Given the description of an element on the screen output the (x, y) to click on. 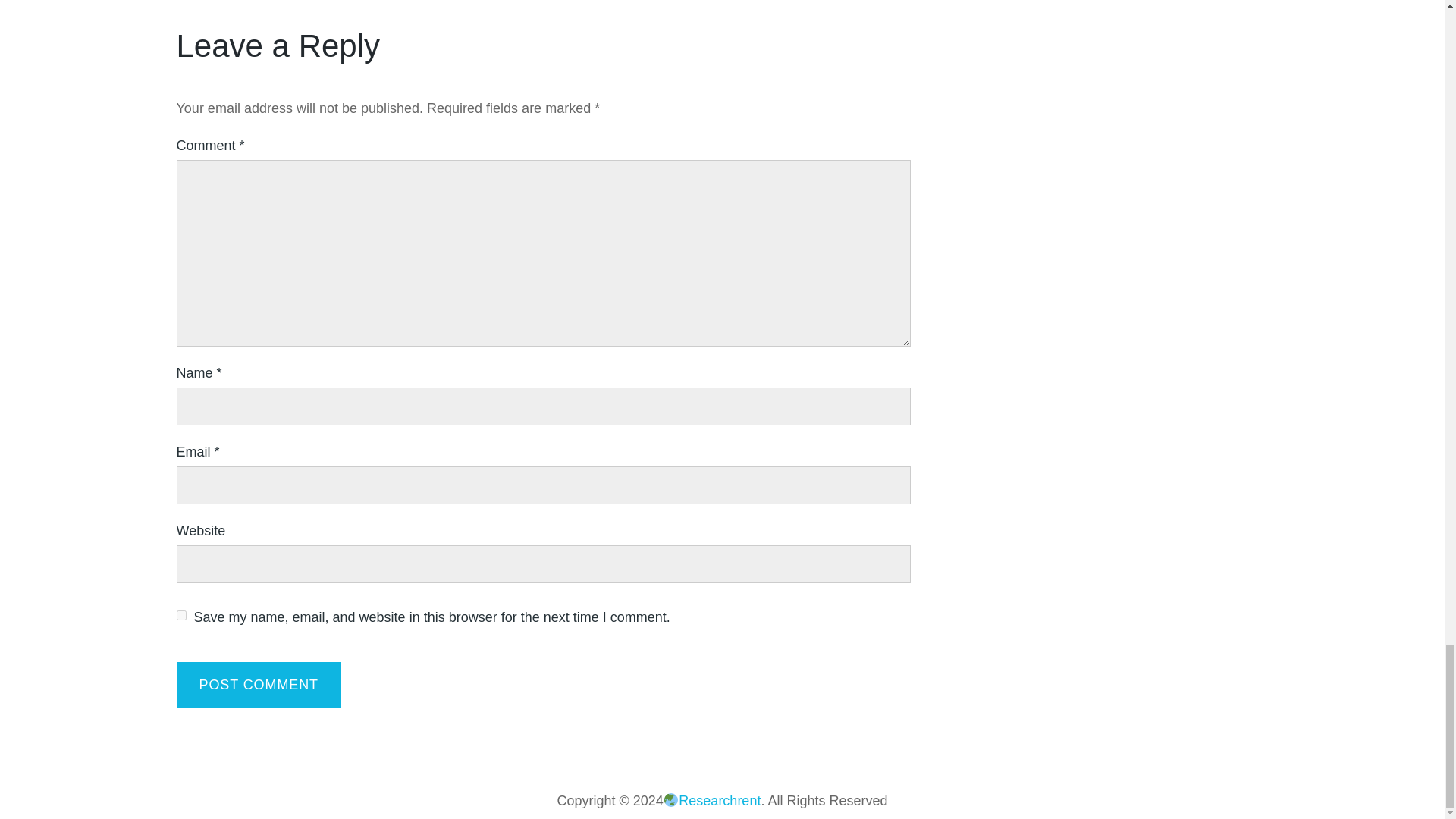
Post Comment (258, 684)
Post Comment (258, 684)
yes (181, 614)
